Given the description of an element on the screen output the (x, y) to click on. 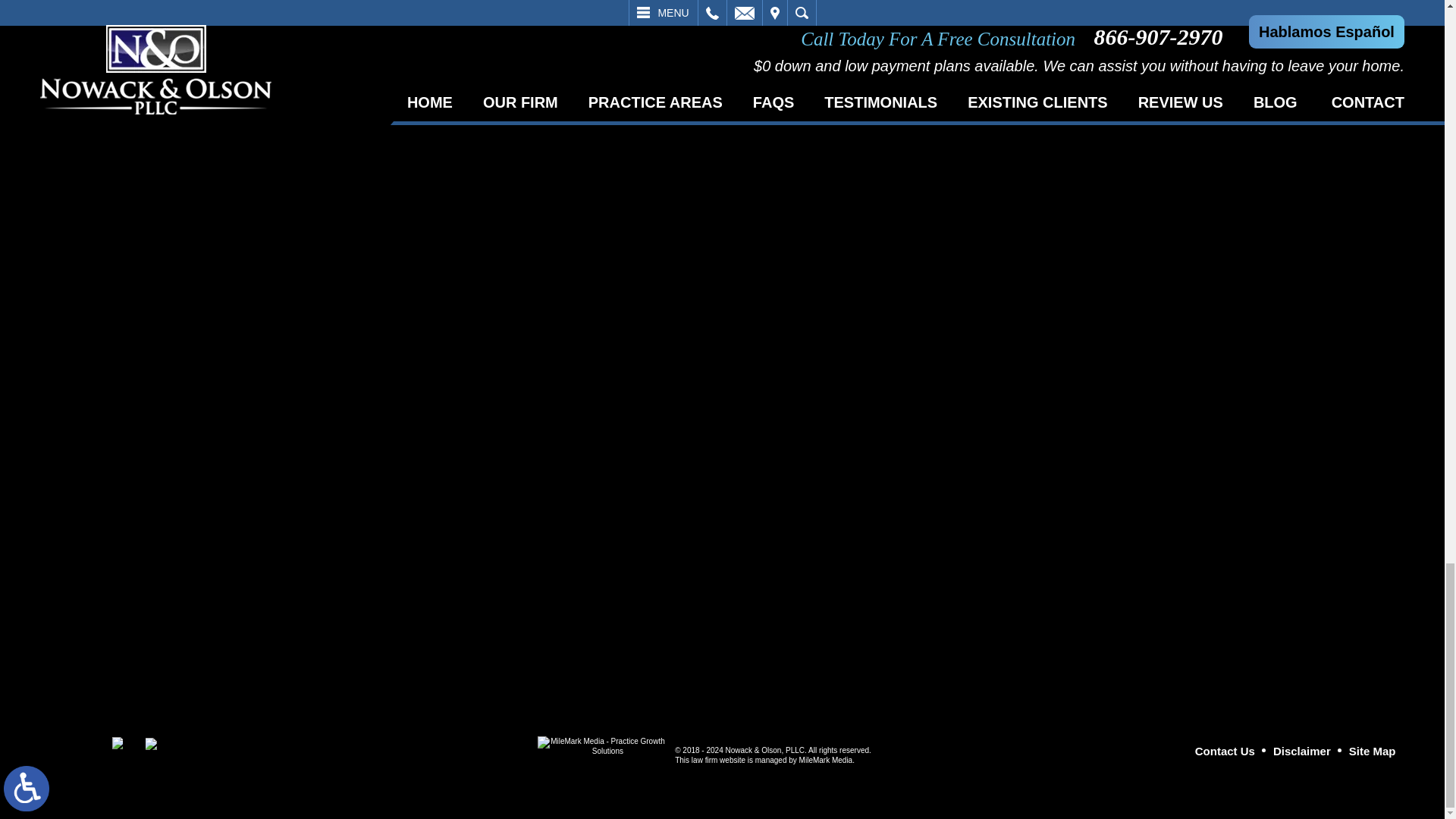
Facebook (117, 743)
MileMark Media - Practice Growth Solutions (601, 749)
Twitter (149, 743)
